Given the description of an element on the screen output the (x, y) to click on. 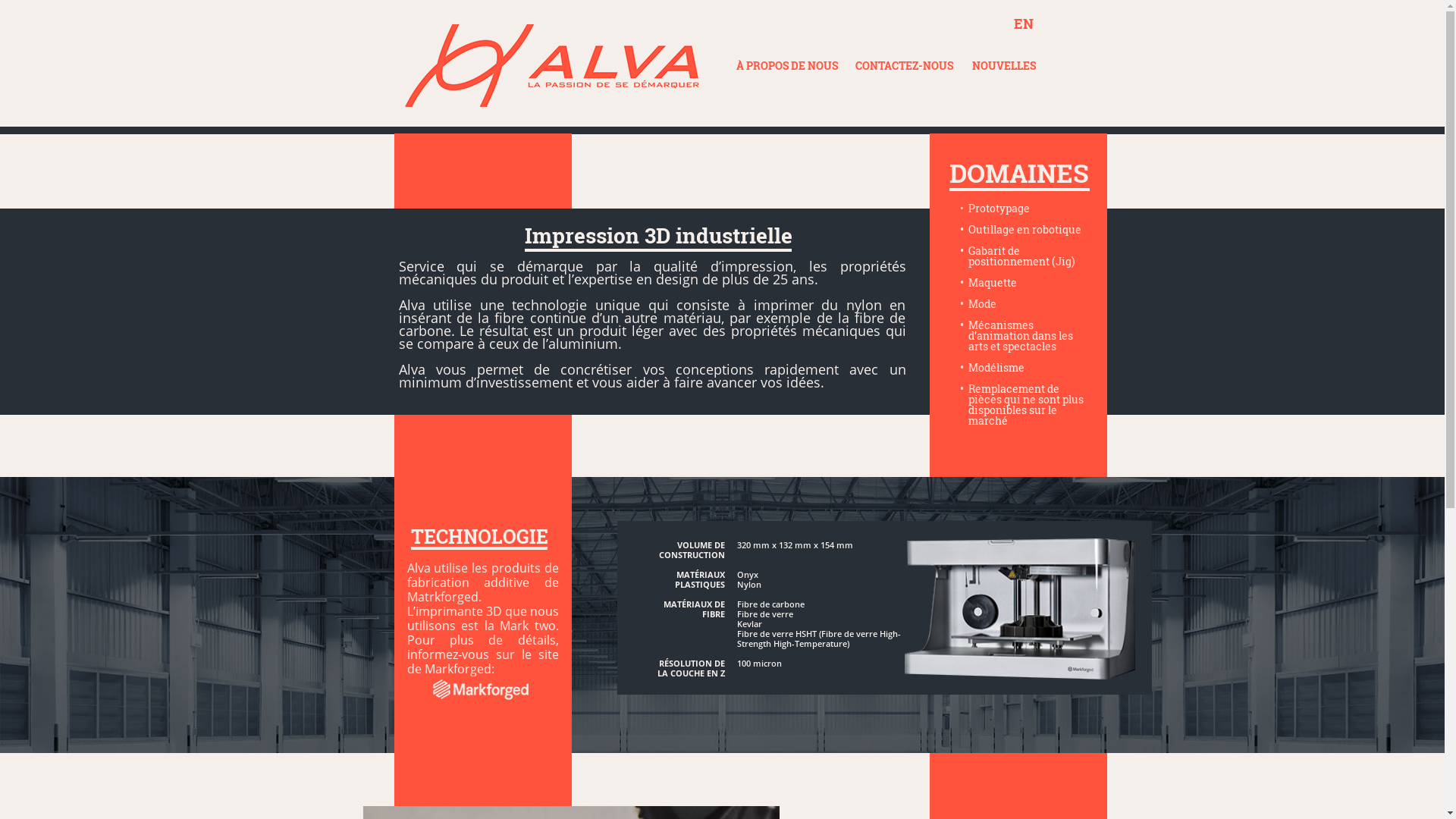
 NOUVELLES Element type: text (1003, 65)
CONTACTEZ-NOUS Element type: text (907, 65)
EN Element type: text (1023, 24)
